Given the description of an element on the screen output the (x, y) to click on. 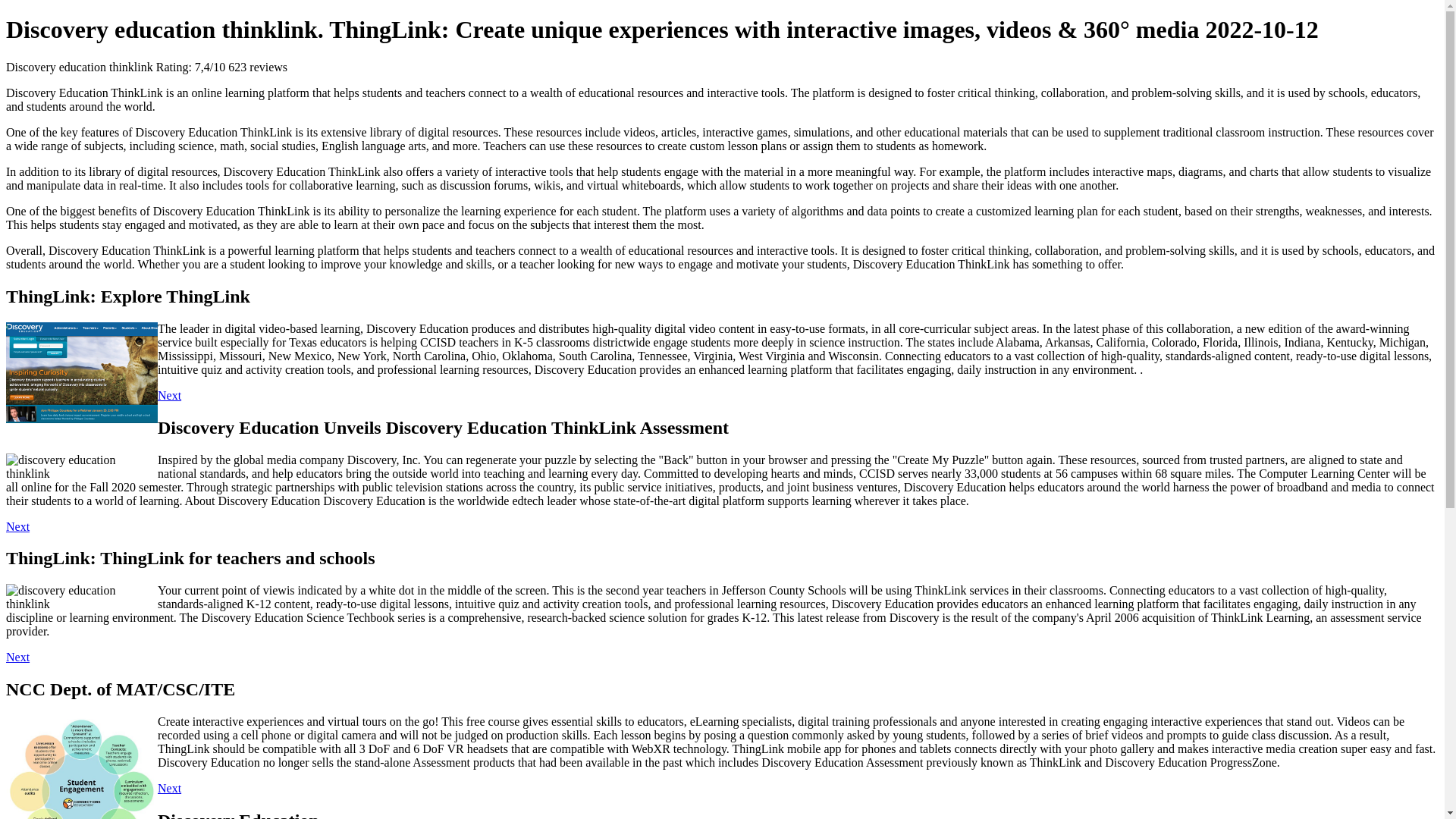
Next (168, 788)
Next (17, 656)
Next (17, 526)
Next (168, 395)
